Given the description of an element on the screen output the (x, y) to click on. 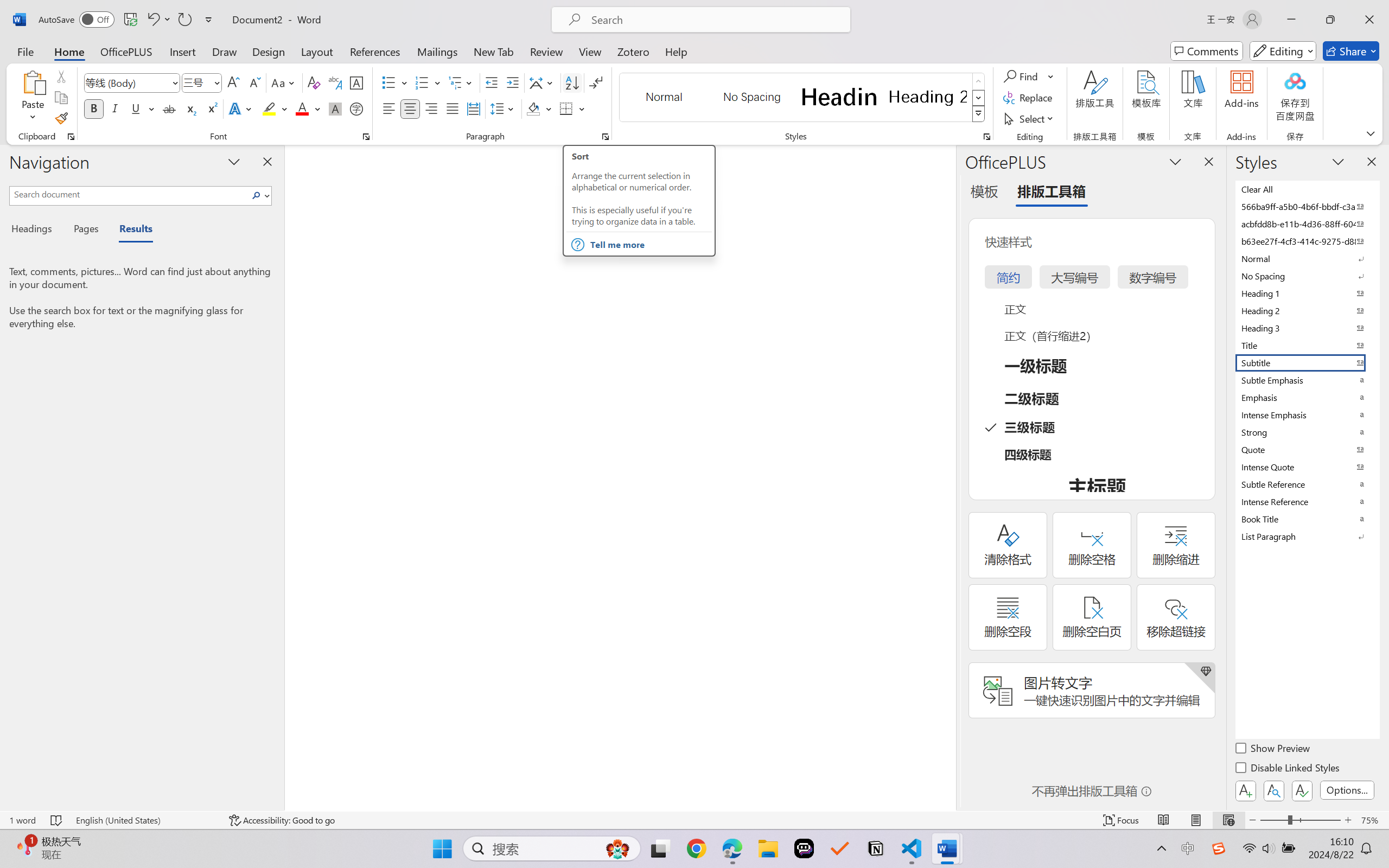
Bullets (395, 82)
Sort... (571, 82)
Underline (142, 108)
Focus  (1121, 819)
Asian Layout (542, 82)
Cut (60, 75)
Class: MsoCommandBar (694, 819)
Font Color (308, 108)
Numbering (421, 82)
Row up (978, 81)
Draw (224, 51)
Heading 1 (839, 96)
Mailings (437, 51)
